Given the description of an element on the screen output the (x, y) to click on. 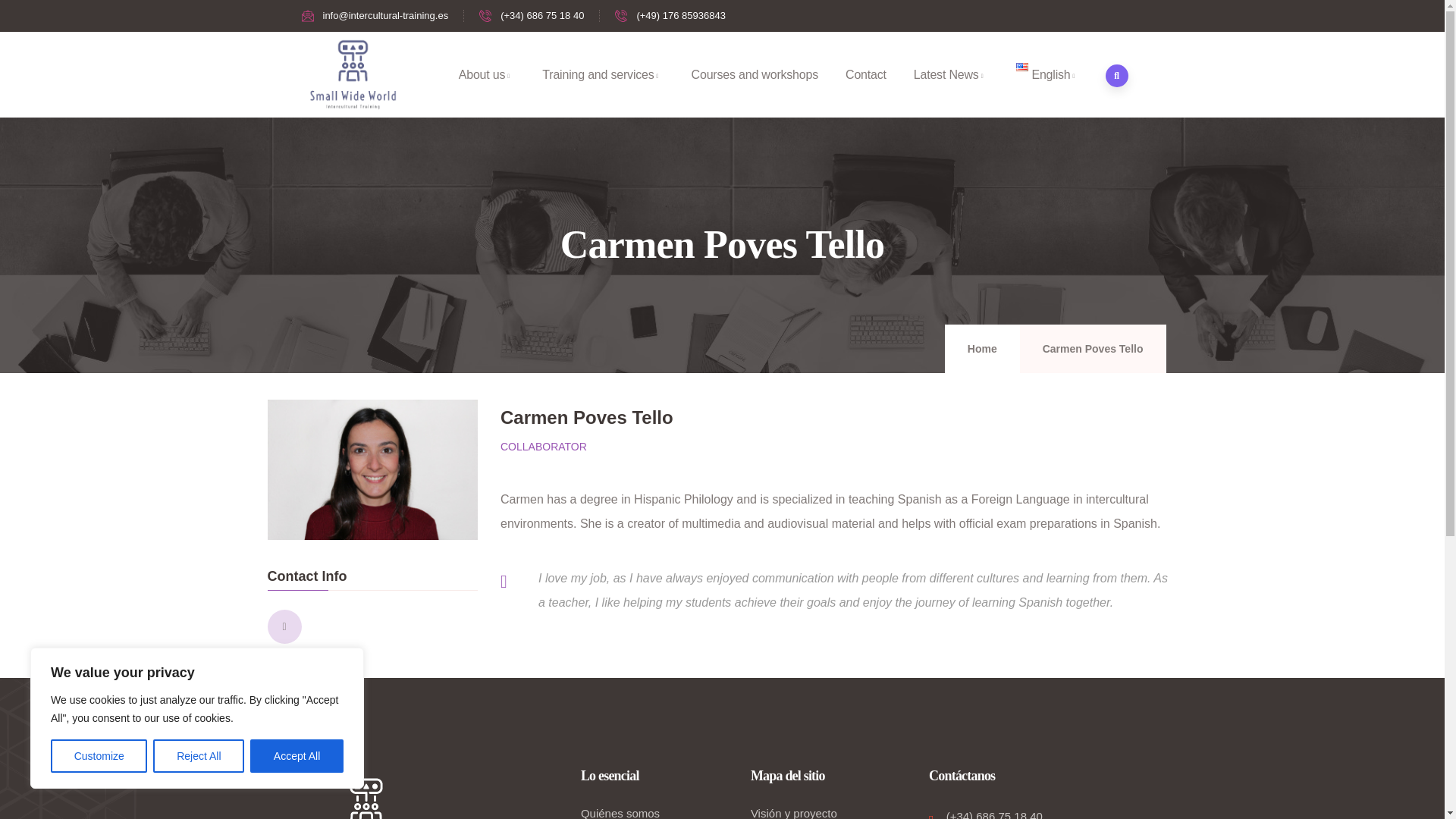
Reject All (198, 756)
Customize (98, 756)
Inicio (365, 794)
Inicio (352, 74)
Accept All (296, 756)
About us (487, 75)
